Given the description of an element on the screen output the (x, y) to click on. 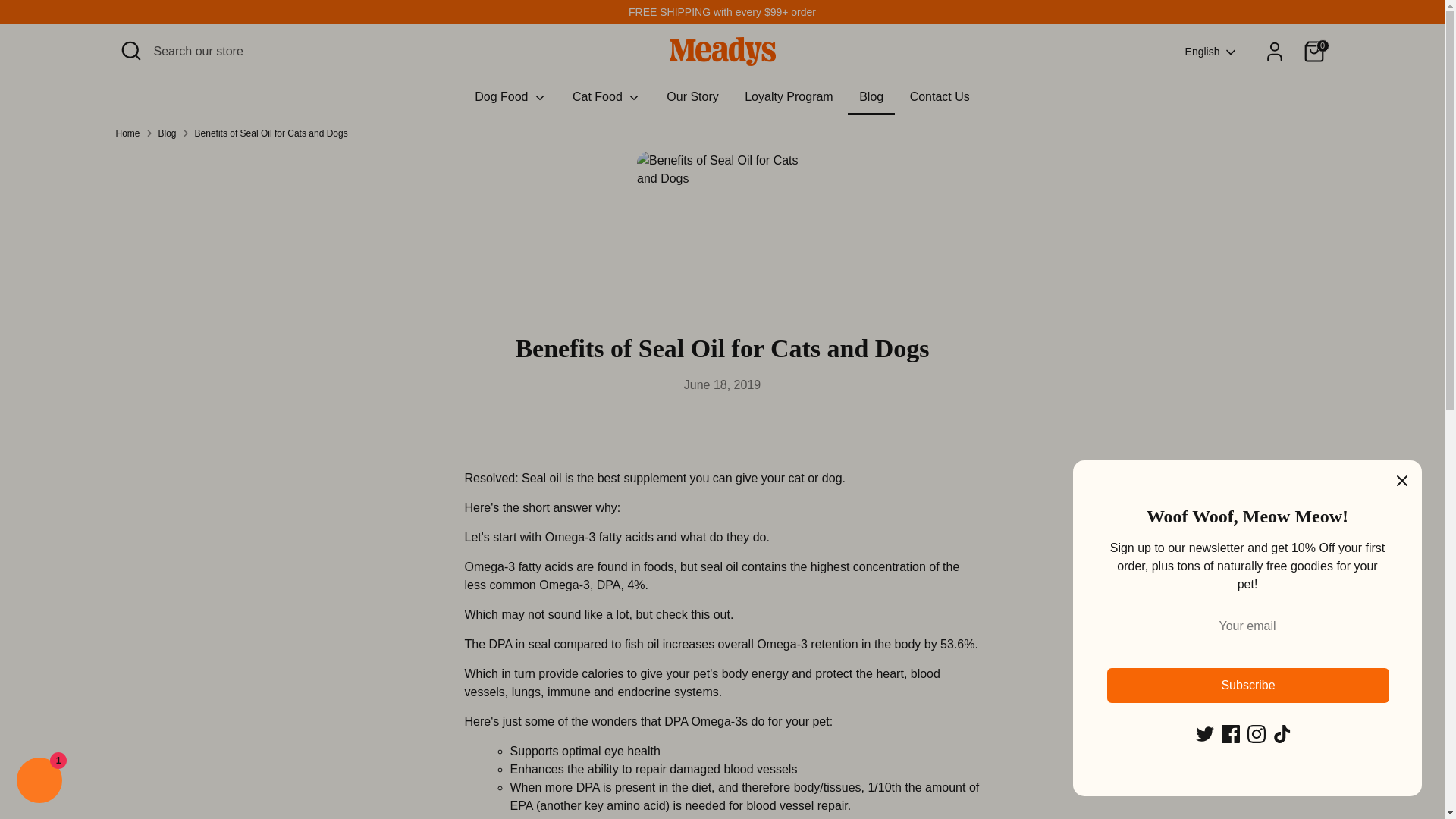
English (1212, 52)
0 (1312, 51)
Shopify online store chat (38, 781)
